Given the description of an element on the screen output the (x, y) to click on. 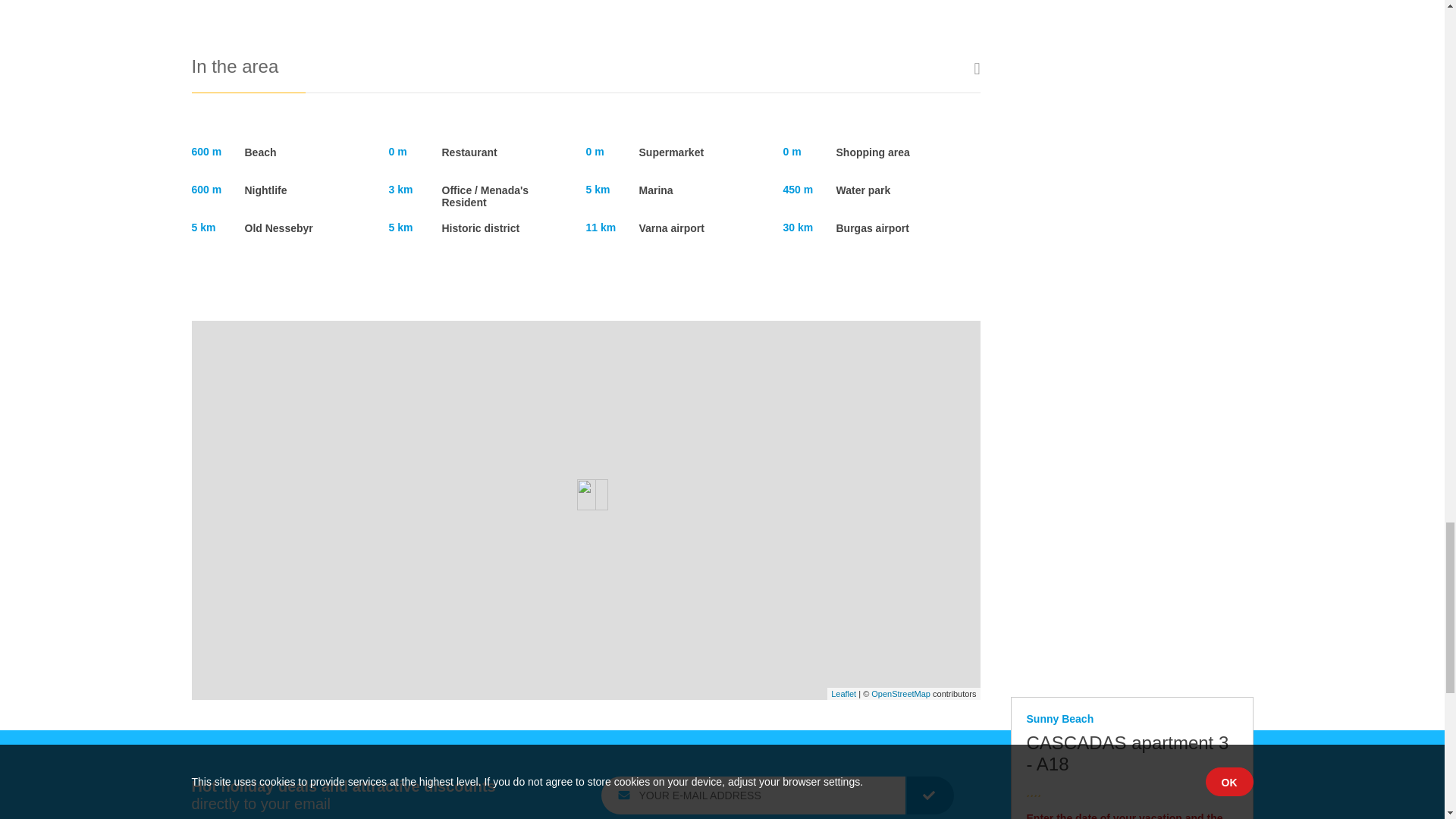
A JS library for interactive maps (843, 692)
Sign up (930, 795)
